Given the description of an element on the screen output the (x, y) to click on. 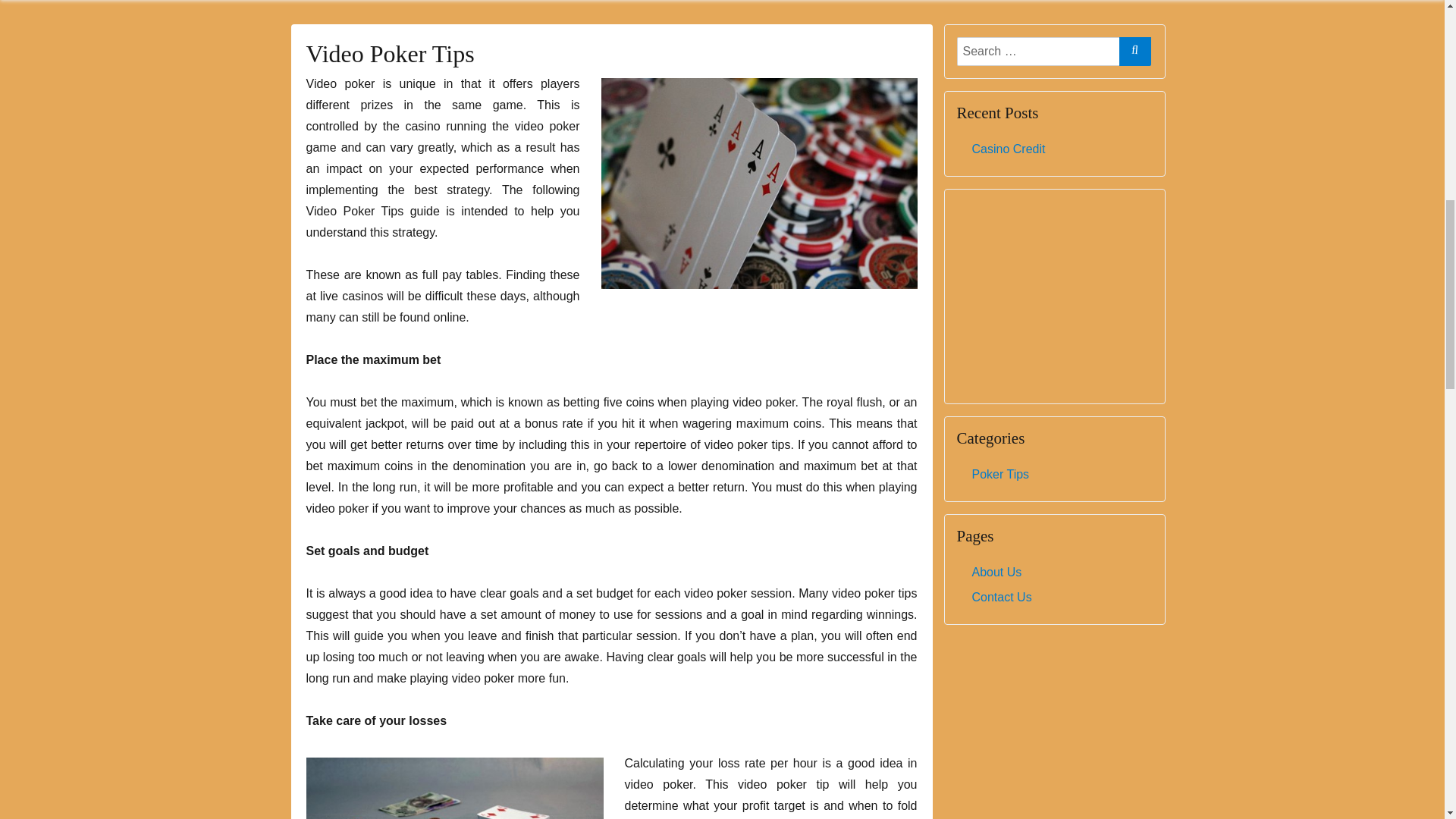
Contact Us (1002, 596)
SEARCH (1135, 49)
YouTube video player (1054, 296)
About Us (997, 571)
Poker Tips (1000, 473)
Casino Credit (1008, 148)
